Given the description of an element on the screen output the (x, y) to click on. 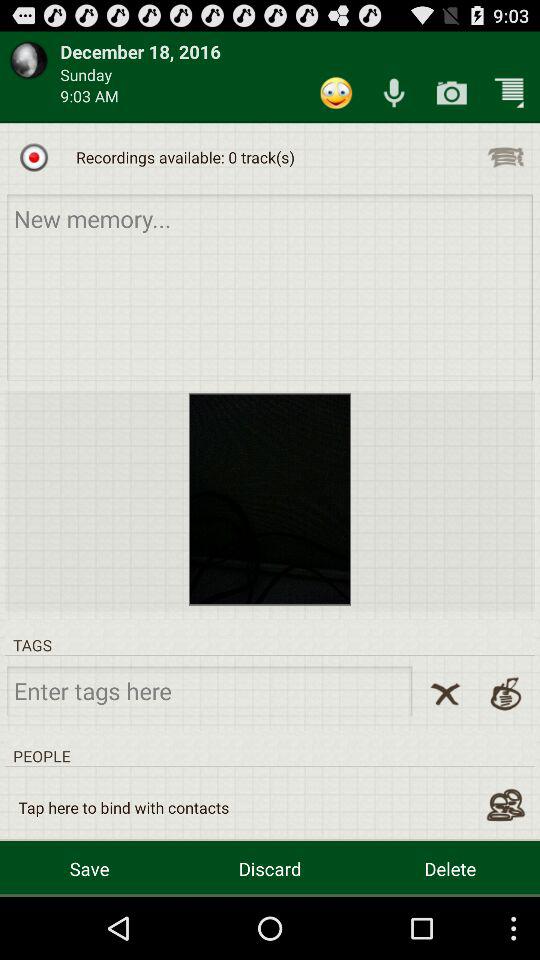
enter tag (209, 690)
